Given the description of an element on the screen output the (x, y) to click on. 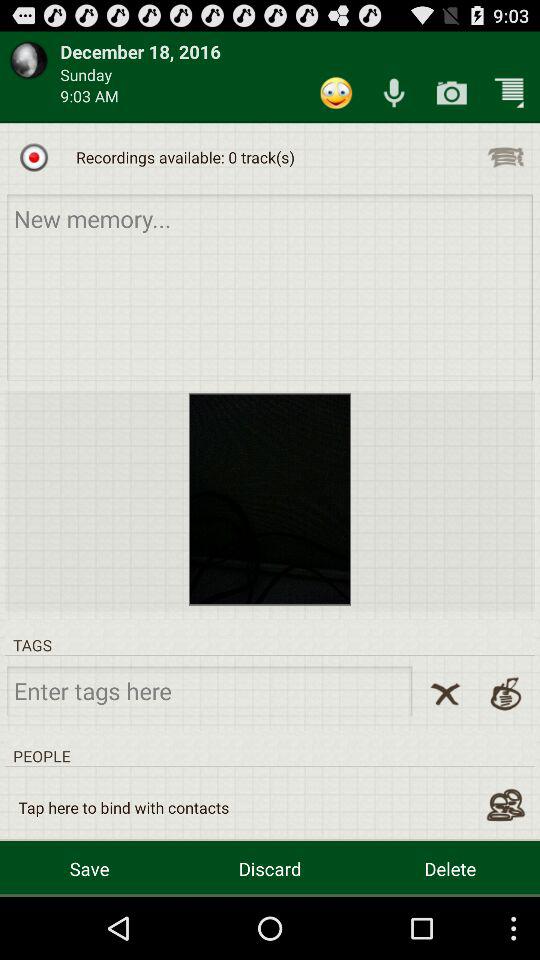
enter tag (209, 690)
